Given the description of an element on the screen output the (x, y) to click on. 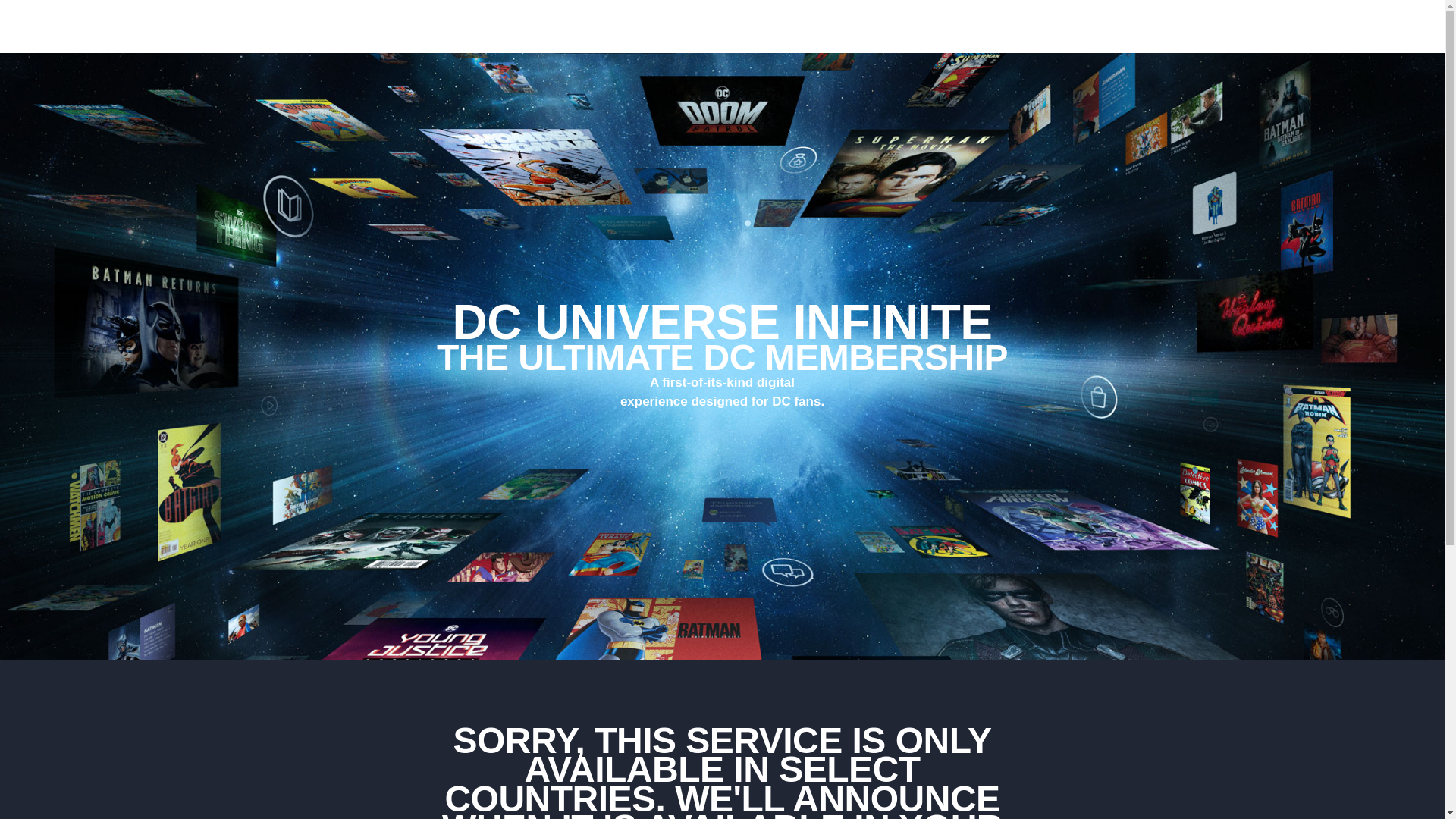
JOIN NOW (1204, 26)
DC Universe (218, 26)
DC Universe (208, 26)
